Given the description of an element on the screen output the (x, y) to click on. 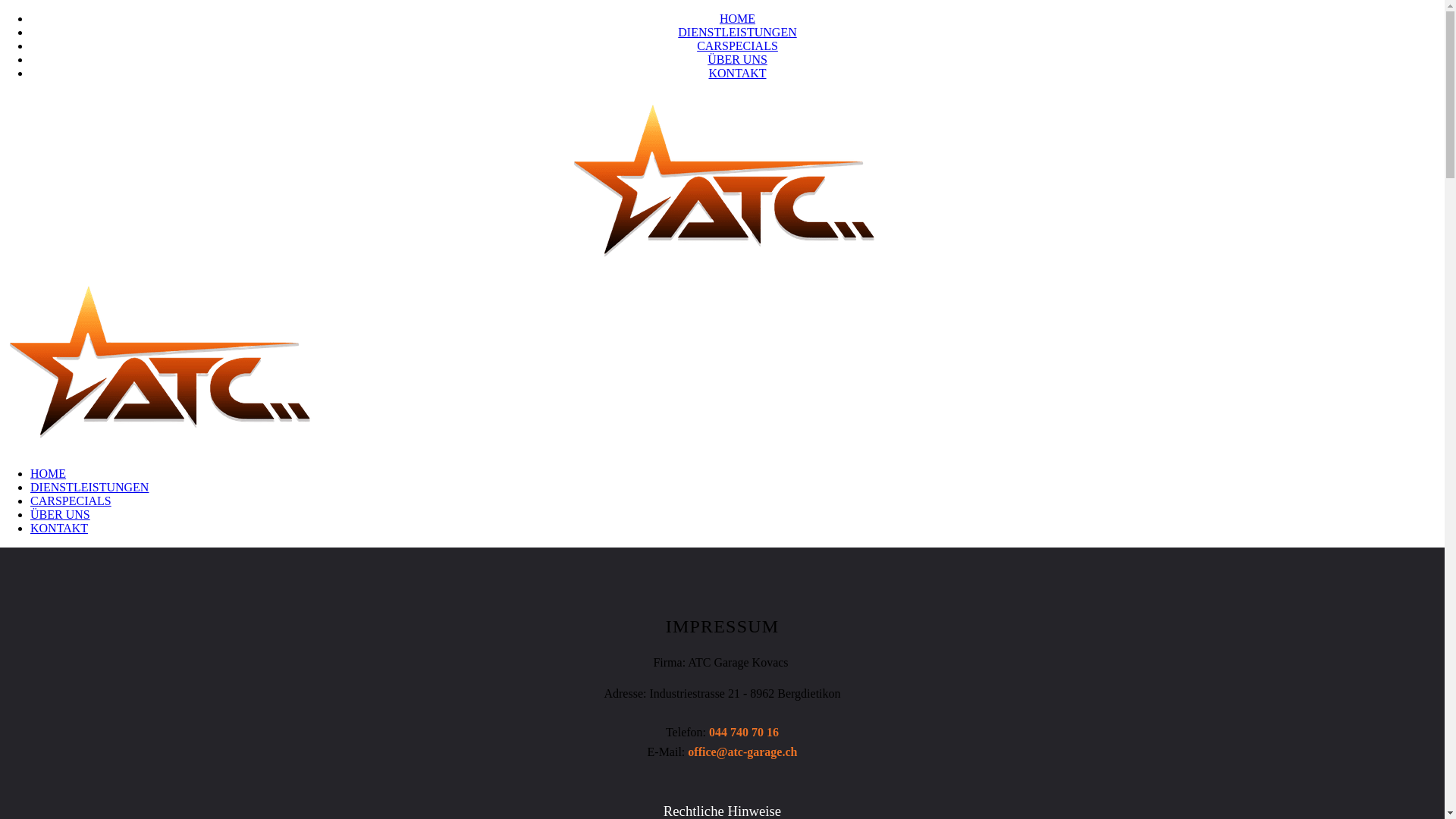
DIENSTLEISTUNGEN Element type: text (736, 31)
CARSPECIALS Element type: text (737, 45)
HOME Element type: text (47, 473)
HOME Element type: text (737, 18)
044 740 70 16 Element type: text (743, 731)
DIENSTLEISTUNGEN Element type: text (89, 486)
CARSPECIALS Element type: text (70, 500)
KONTAKT Element type: text (58, 527)
office@atc-garage.ch Element type: text (742, 751)
KONTAKT Element type: text (736, 72)
